Given the description of an element on the screen output the (x, y) to click on. 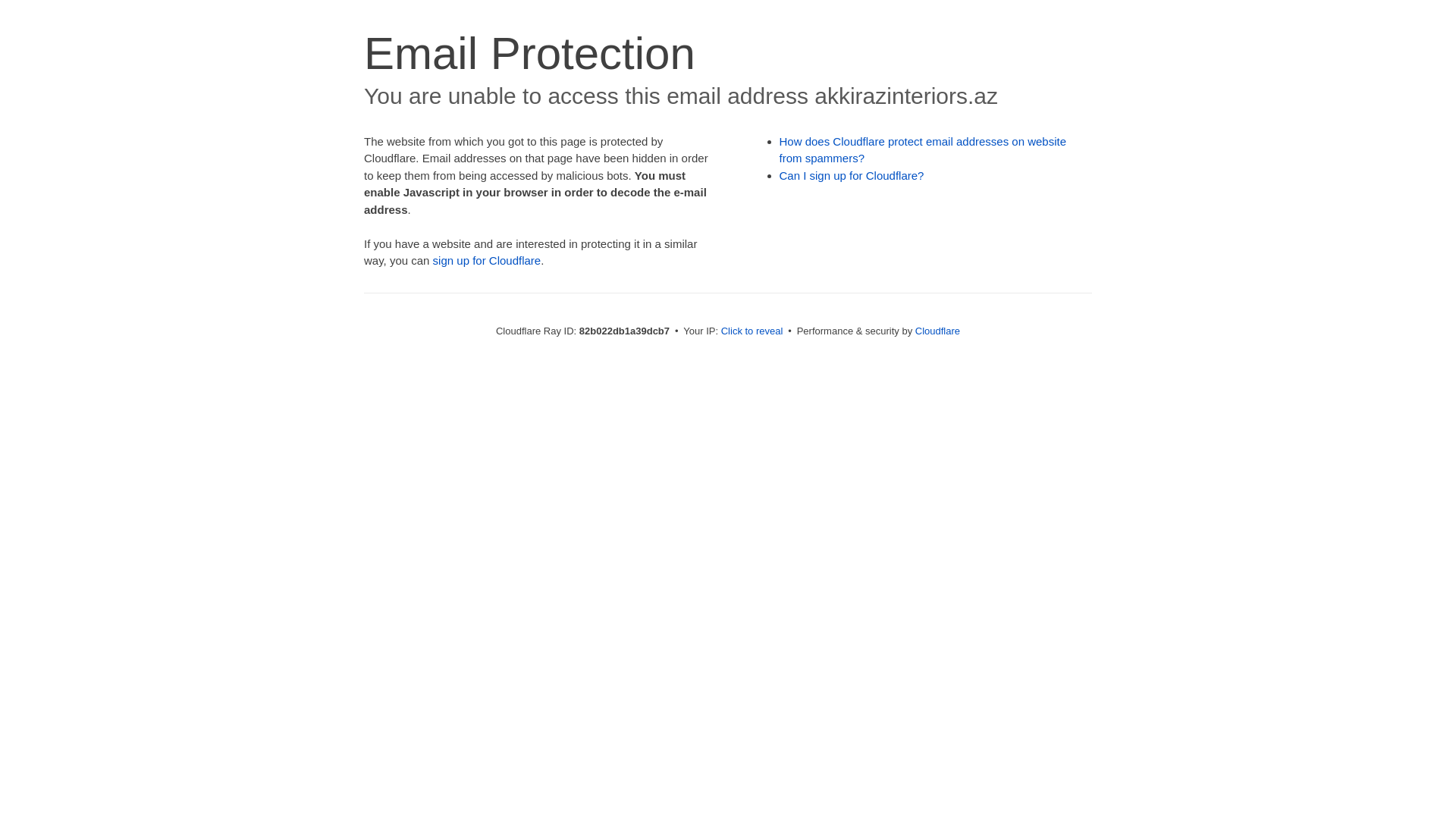
Cloudflare Element type: text (937, 330)
Can I sign up for Cloudflare? Element type: text (851, 175)
Click to reveal Element type: text (752, 330)
sign up for Cloudflare Element type: text (487, 260)
